Given the description of an element on the screen output the (x, y) to click on. 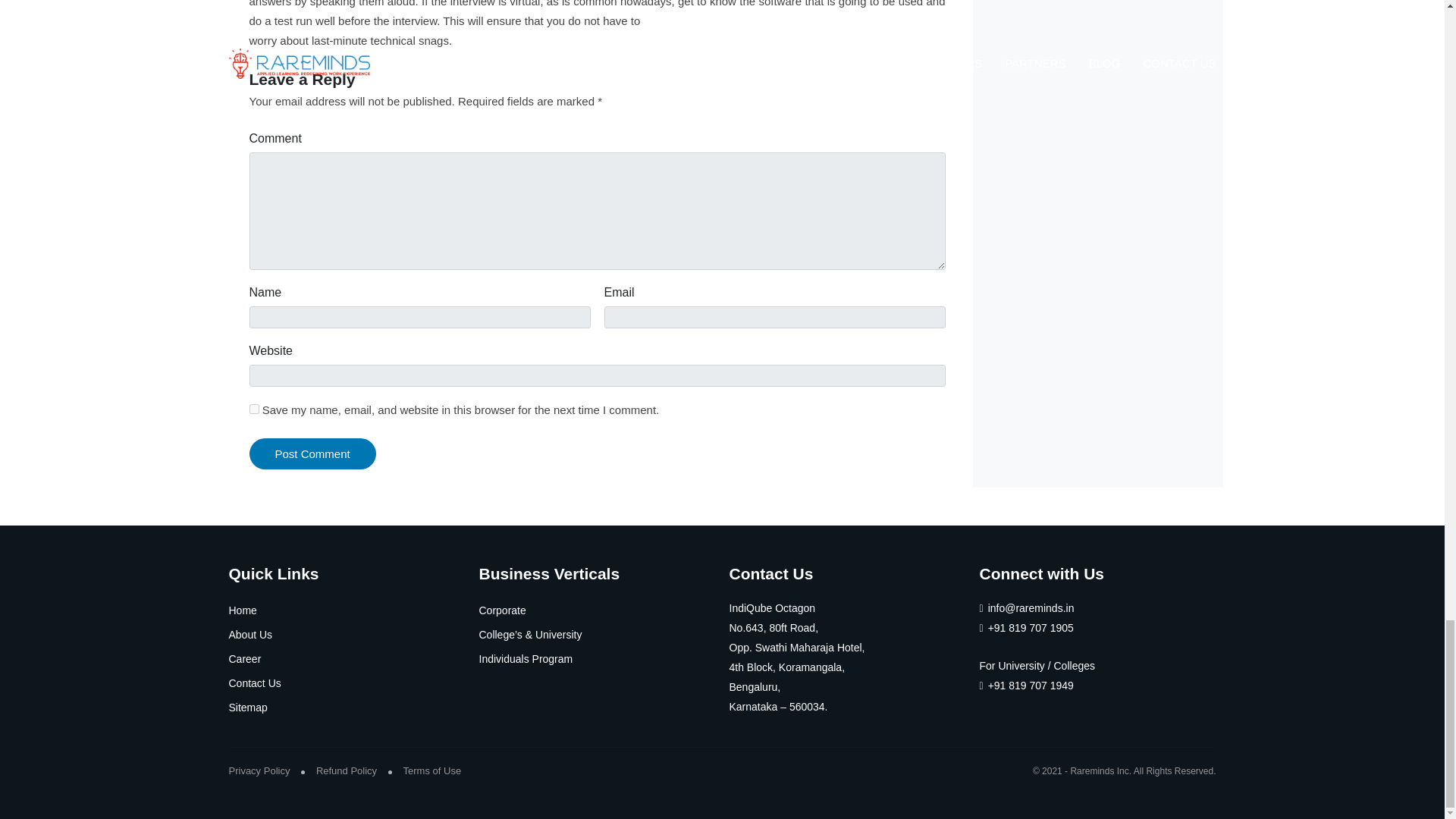
Sitemap (247, 707)
Home (242, 610)
Career (245, 658)
Post Comment (311, 453)
About Us (250, 634)
Contact Us (254, 683)
Post Comment (311, 453)
Corporate (502, 610)
yes (253, 409)
Individuals Program (526, 658)
